Given the description of an element on the screen output the (x, y) to click on. 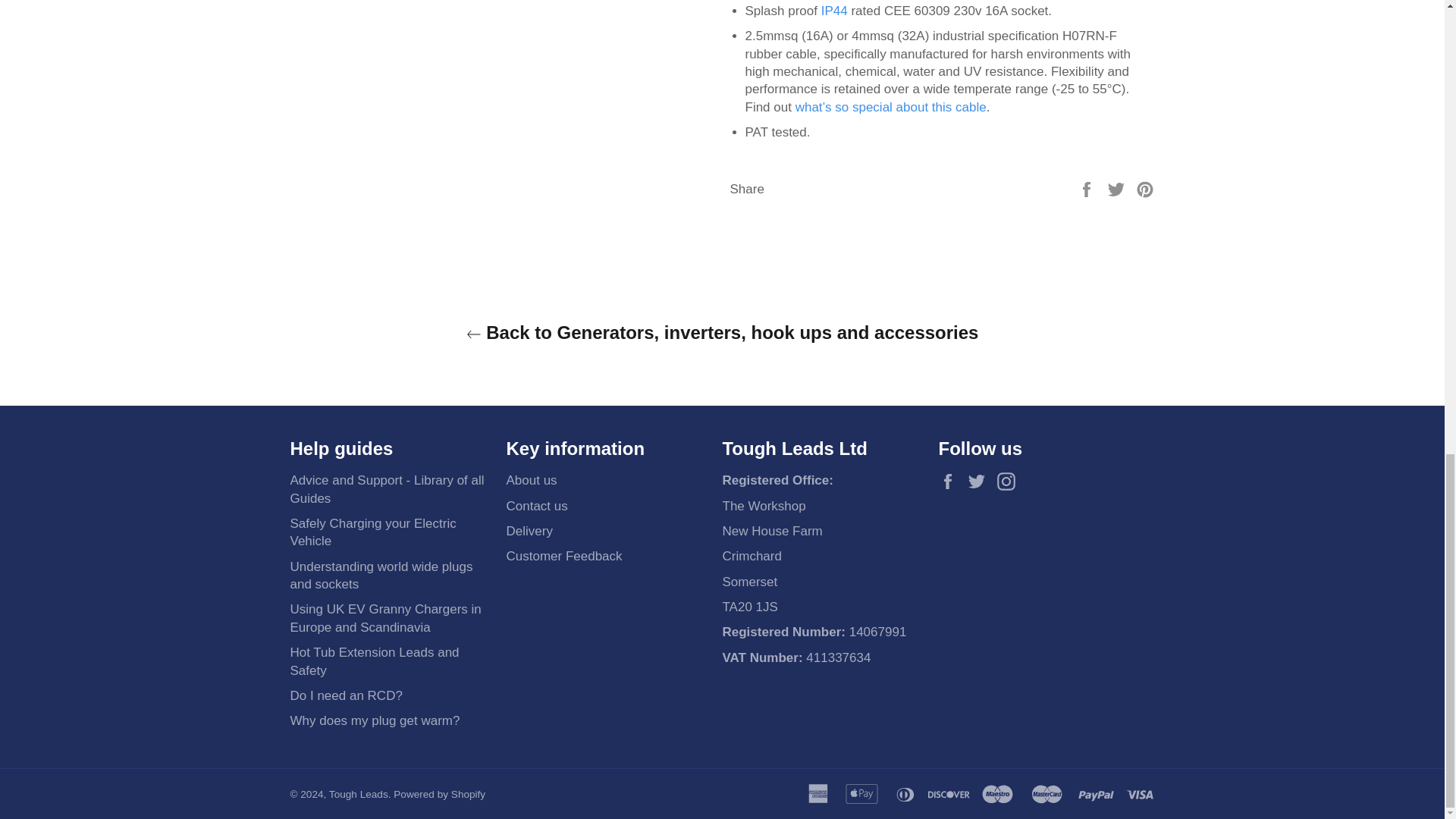
Share on Facebook (1088, 188)
Do I need an RCD? (345, 695)
Tough Leads on Instagram (1010, 480)
Tough Leads on Twitter (980, 480)
IP44 (834, 11)
Tweet on Twitter (1117, 188)
Back to Generators, inverters, hook ups and accessories (721, 332)
Using UK EV Granny Chargers in Europe and Scandinavia (384, 617)
Tweet on Twitter (1117, 188)
Share on Facebook (1088, 188)
Tough Leads on Facebook (951, 480)
Pin on Pinterest (1144, 188)
Advice and Support - Library of all Guides (386, 489)
Understanding world wide plugs and sockets (380, 575)
Pin on Pinterest (1144, 188)
